Given the description of an element on the screen output the (x, y) to click on. 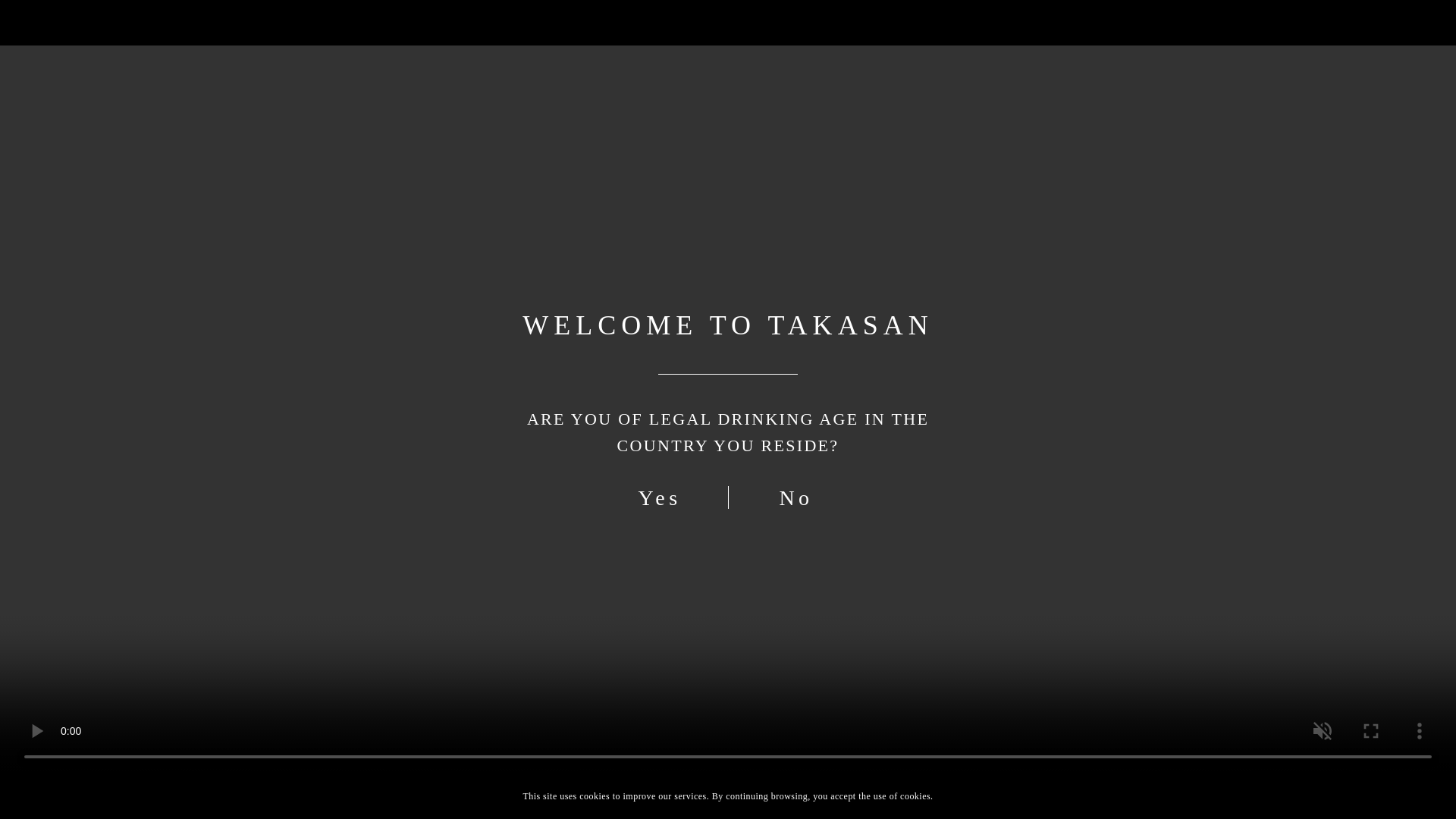
LOG IN (1094, 30)
SPARKLING (874, 192)
CART (881, 716)
ADD TO CART (1142, 30)
MENU (1075, 721)
